Given the description of an element on the screen output the (x, y) to click on. 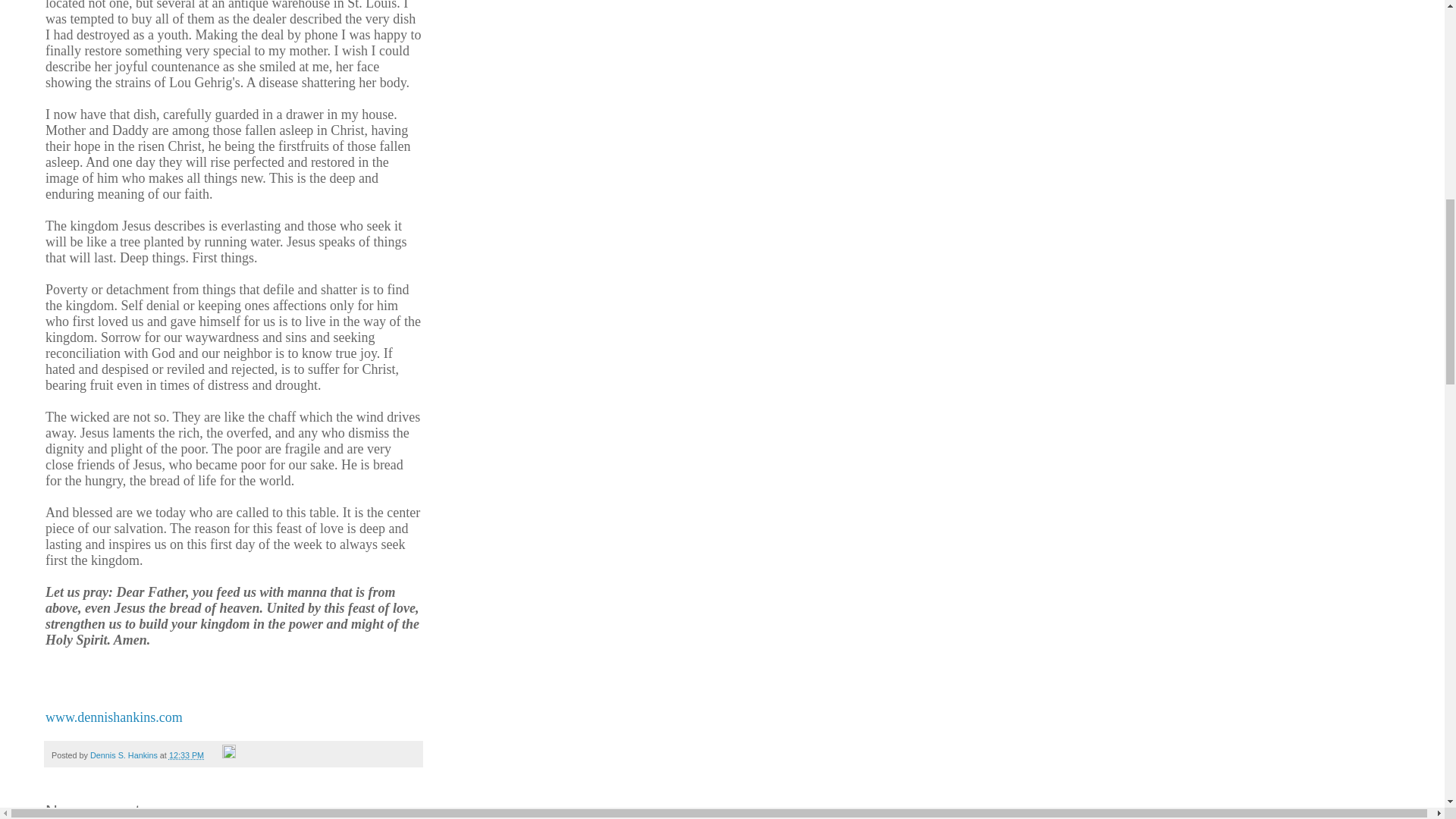
permanent link (185, 755)
Dennis S. Hankins (125, 755)
Email Post (214, 755)
12:33 PM (185, 755)
Edit Post (228, 755)
author profile (125, 755)
www.dennishankins.com (114, 717)
